Given the description of an element on the screen output the (x, y) to click on. 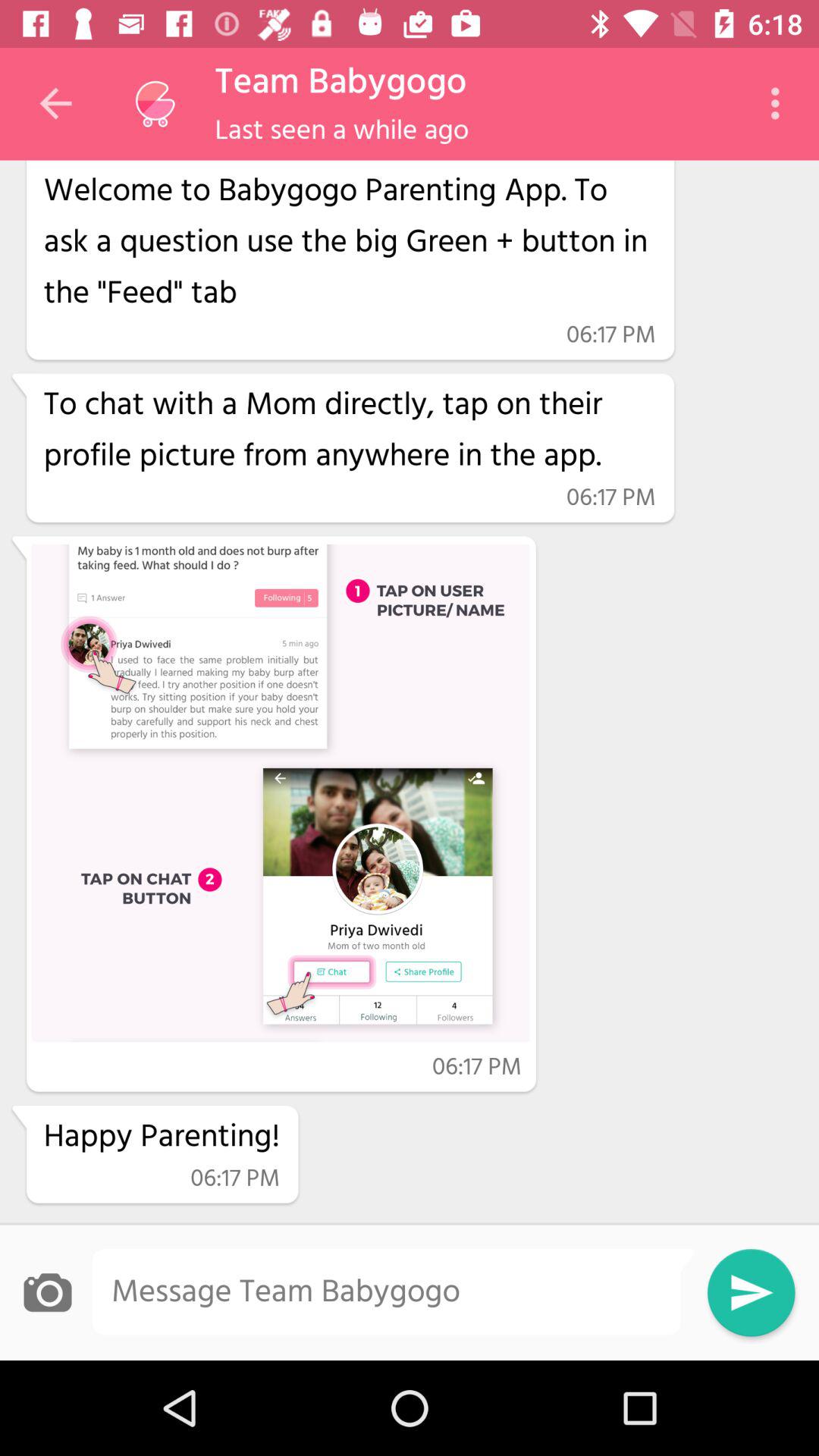
launch item above the 06:17 pm icon (161, 1137)
